Given the description of an element on the screen output the (x, y) to click on. 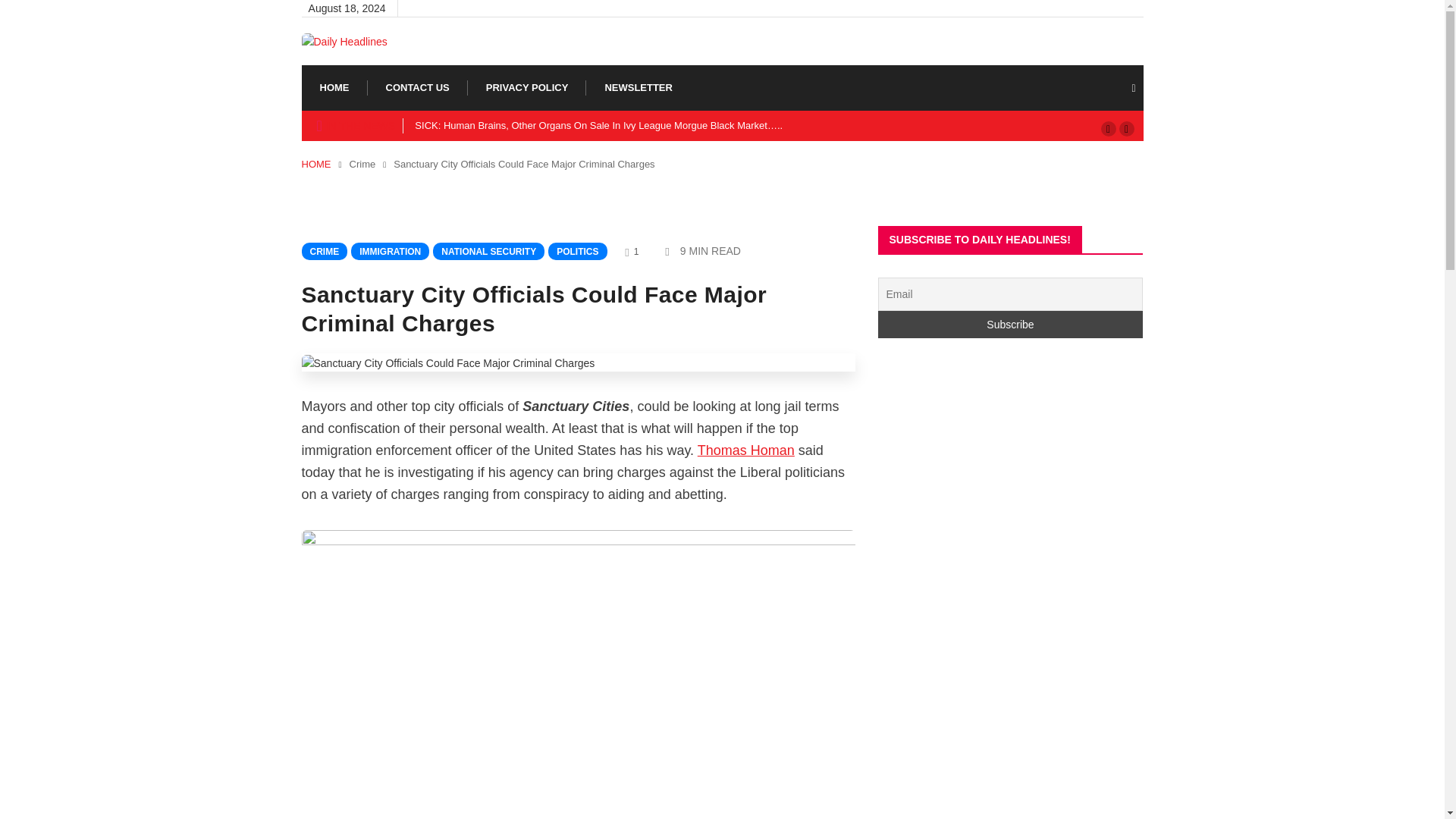
POLITICS (577, 251)
Thomas Homan (745, 450)
IMMIGRATION (389, 251)
CONTACT US (416, 87)
Subscribe (1009, 324)
NEWSLETTER (638, 87)
NATIONAL SECURITY (488, 251)
PRIVACY POLICY (527, 87)
CRIME (324, 251)
HOME (316, 163)
